Given the description of an element on the screen output the (x, y) to click on. 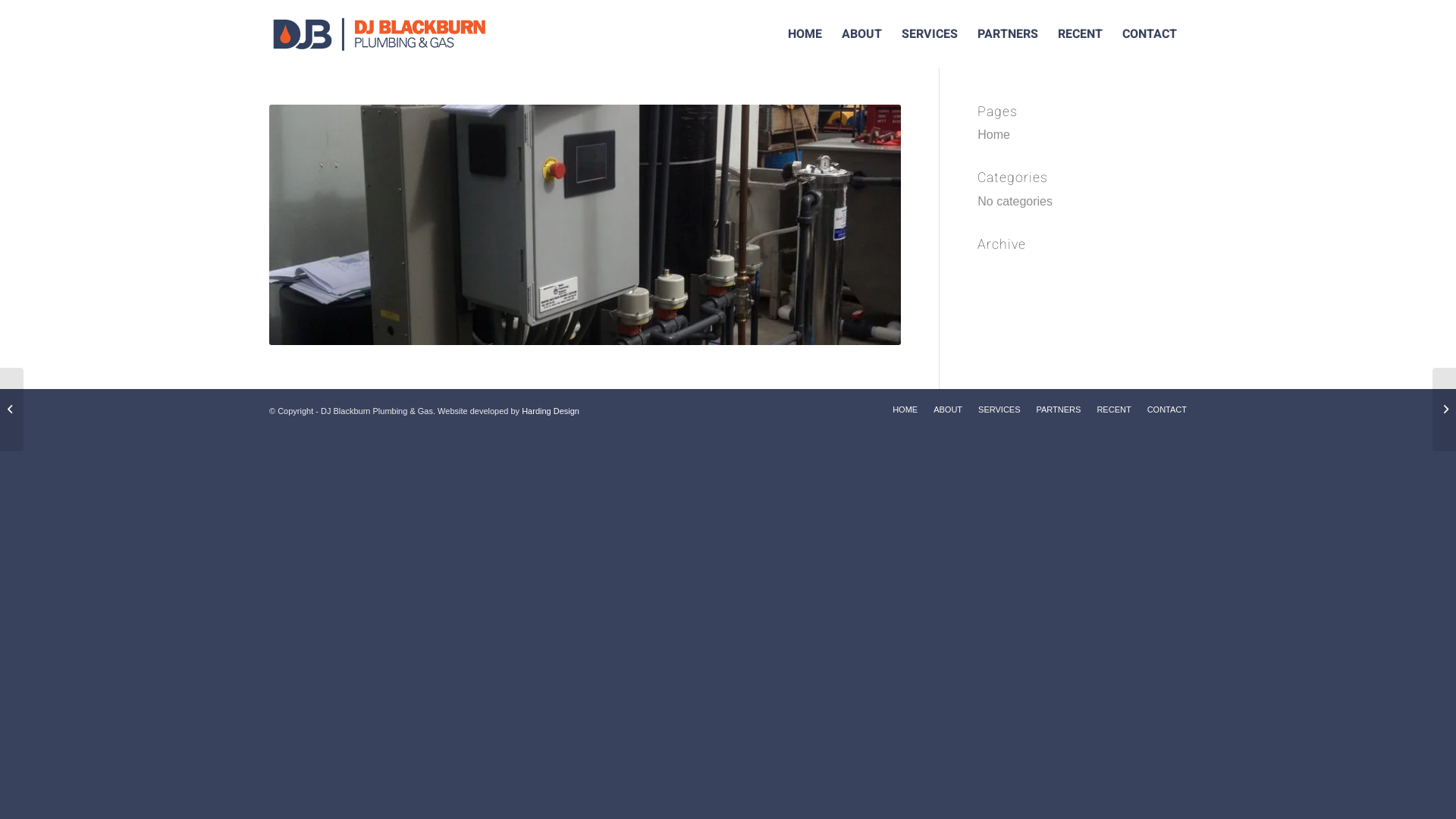
DJ Blackburn Plumbing & Gas logo Element type: hover (391, 34)
RECENT Element type: text (1113, 409)
SERVICES Element type: text (929, 34)
PARTNERS Element type: text (1007, 34)
ABOUT Element type: text (947, 409)
CONTACT Element type: text (1149, 34)
ABOUT Element type: text (861, 34)
RECENT Element type: text (1080, 34)
Home Element type: text (993, 134)
HOME Element type: text (804, 34)
Harding Design Element type: text (550, 410)
SERVICES Element type: text (998, 409)
PARTNERS Element type: text (1058, 409)
HOME Element type: text (904, 409)
CONTACT Element type: text (1166, 409)
